Given the description of an element on the screen output the (x, y) to click on. 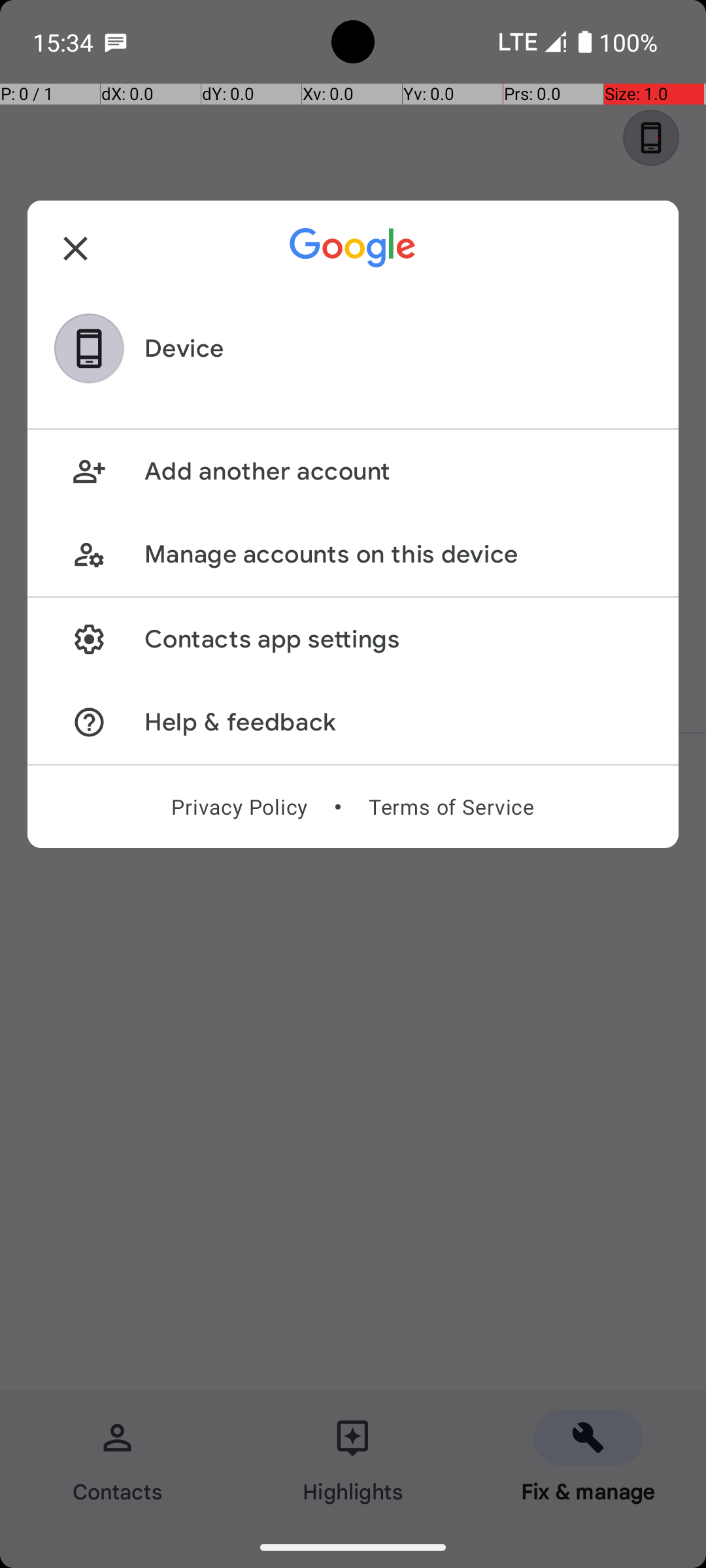
Privacy Policy Element type: android.widget.Button (239, 806)
Terms of Service Element type: android.widget.Button (450, 806)
Device Element type: android.widget.TextView (184, 348)
Add another account Element type: android.widget.TextView (397, 471)
Manage accounts on this device Element type: android.widget.TextView (397, 554)
Contacts app settings Element type: android.widget.TextView (397, 638)
